Given the description of an element on the screen output the (x, y) to click on. 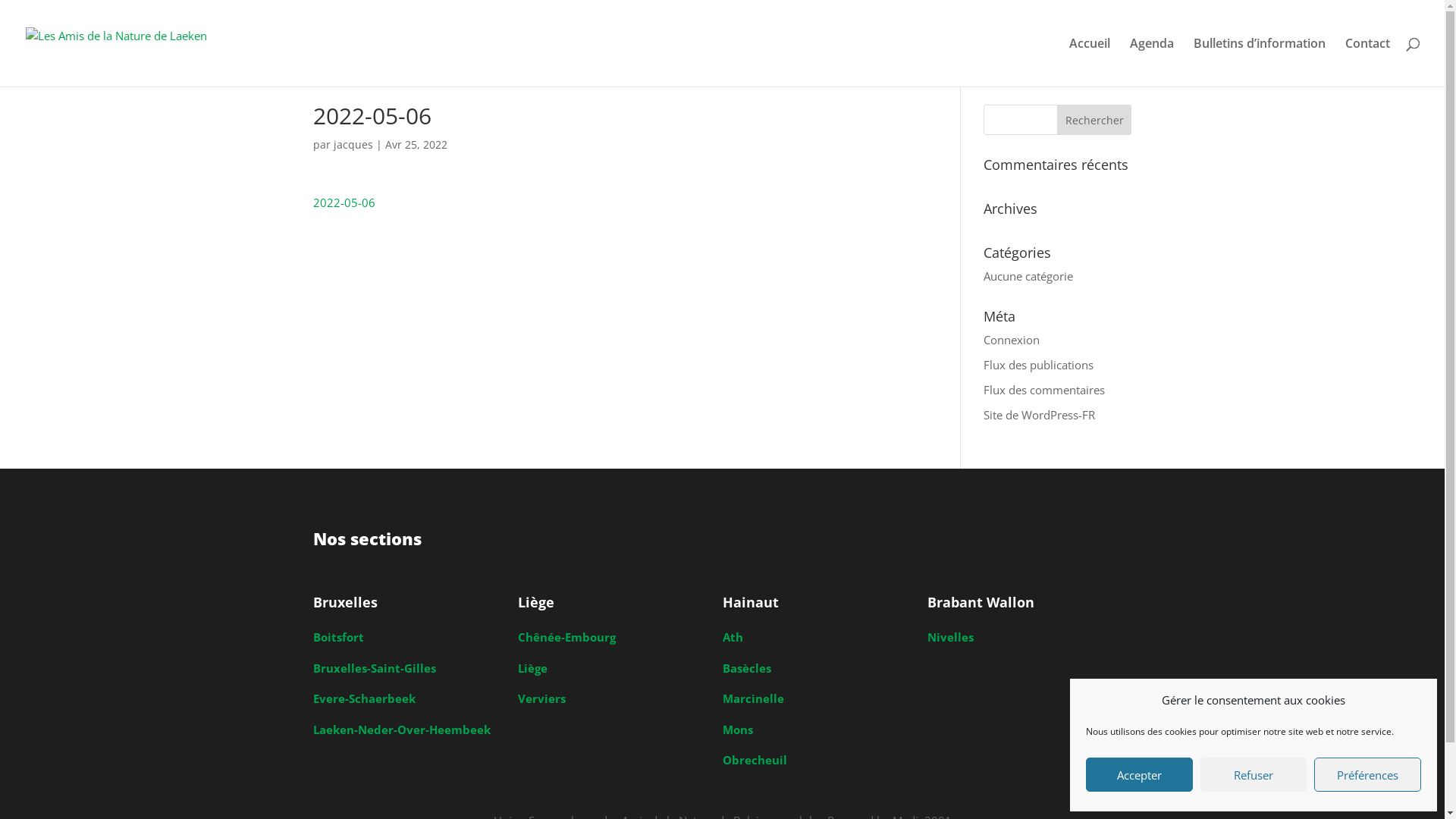
Bruxelles-Saint-Gilles Element type: text (373, 666)
Site de WordPress-FR Element type: text (1039, 413)
Refuser Element type: text (1253, 774)
Laeken-Neder-Over-Heembeek Element type: text (400, 729)
Verviers Element type: text (540, 698)
Connexion Element type: text (1011, 339)
Rechercher Element type: text (1094, 119)
Accueil Element type: text (1089, 61)
Evere-Schaerbeek Element type: text (363, 698)
jacques Element type: text (353, 144)
Marcinelle Element type: text (752, 698)
Agenda Element type: text (1151, 61)
Obrecheuil Element type: text (753, 759)
Accepter Element type: text (1138, 774)
Ath Element type: text (731, 636)
Contact Element type: text (1367, 61)
Mons Element type: text (736, 729)
Nivelles Element type: text (949, 636)
Boitsfort Element type: text (337, 636)
Flux des publications Element type: text (1038, 363)
2022-05-06 Element type: text (343, 201)
Flux des commentaires Element type: text (1043, 389)
